Given the description of an element on the screen output the (x, y) to click on. 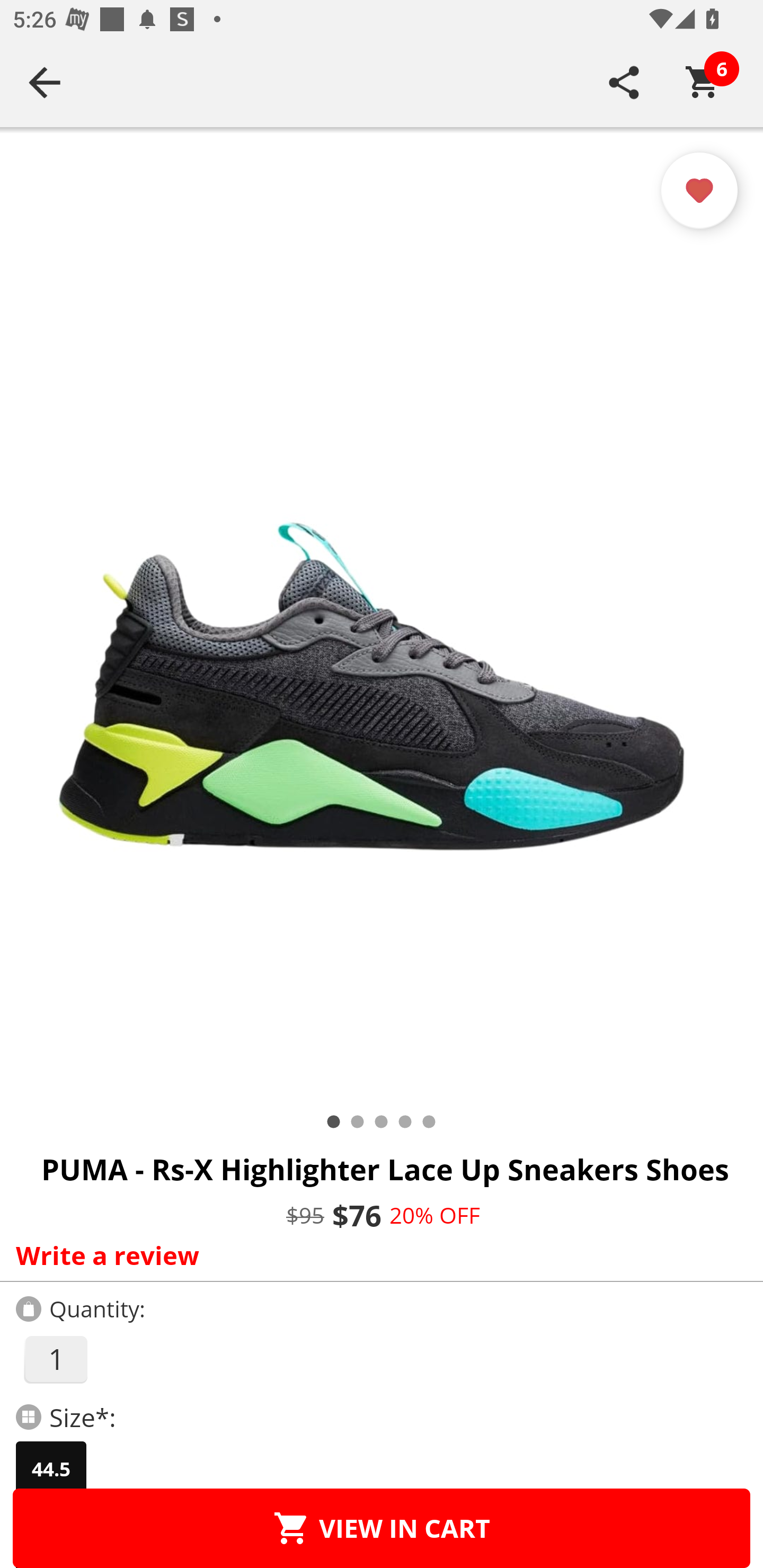
Navigate up (44, 82)
SHARE (623, 82)
Cart (703, 81)
Write a review (377, 1255)
1 (55, 1358)
44.5 (51, 1468)
VIEW IN CART (381, 1528)
